Given the description of an element on the screen output the (x, y) to click on. 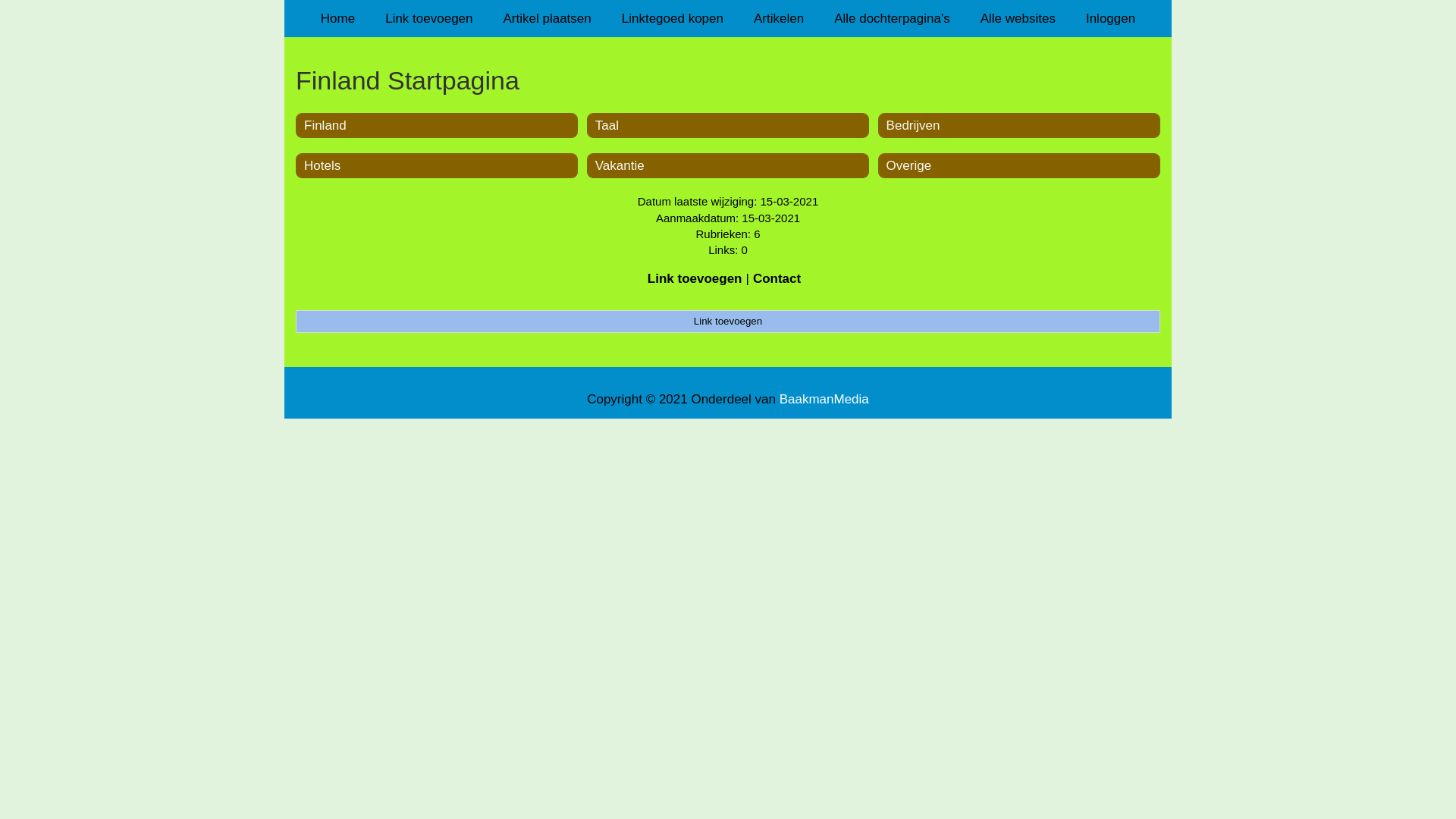
Finland Element type: text (325, 125)
Inloggen Element type: text (1110, 18)
Finland Startpagina Element type: text (727, 80)
Link toevoegen Element type: text (428, 18)
Overige Element type: text (908, 165)
Taal Element type: text (606, 125)
Link toevoegen Element type: text (694, 278)
Alle websites Element type: text (1017, 18)
Link toevoegen Element type: text (727, 321)
Linktegoed kopen Element type: text (672, 18)
Artikelen Element type: text (778, 18)
Home Element type: text (337, 18)
Vakantie Element type: text (619, 165)
Alle dochterpagina's Element type: text (892, 18)
Hotels Element type: text (322, 165)
Contact Element type: text (776, 278)
BaakmanMedia Element type: text (824, 399)
Bedrijven Element type: text (913, 125)
Artikel plaatsen Element type: text (547, 18)
